Given the description of an element on the screen output the (x, y) to click on. 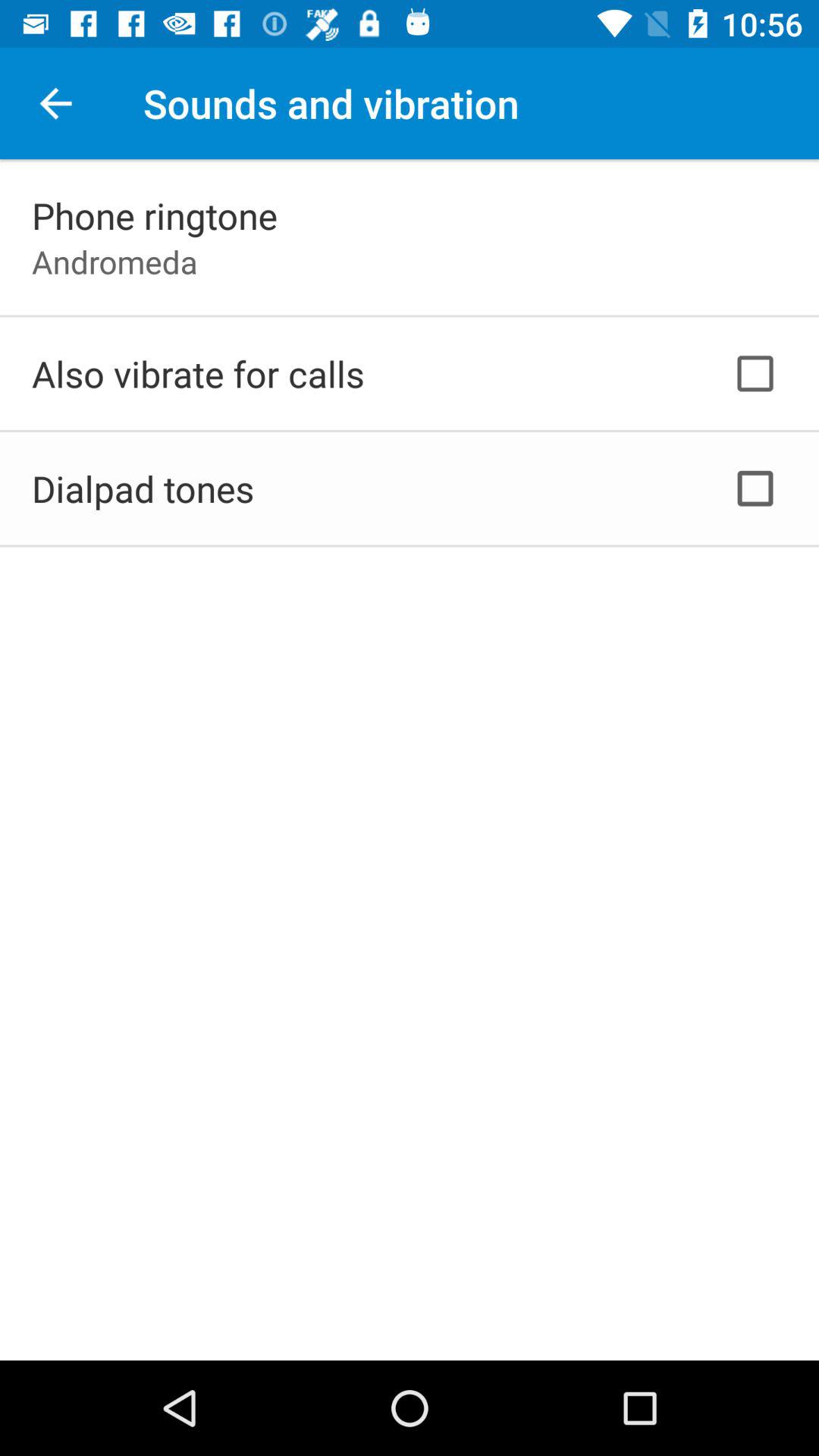
tap also vibrate for app (197, 373)
